Given the description of an element on the screen output the (x, y) to click on. 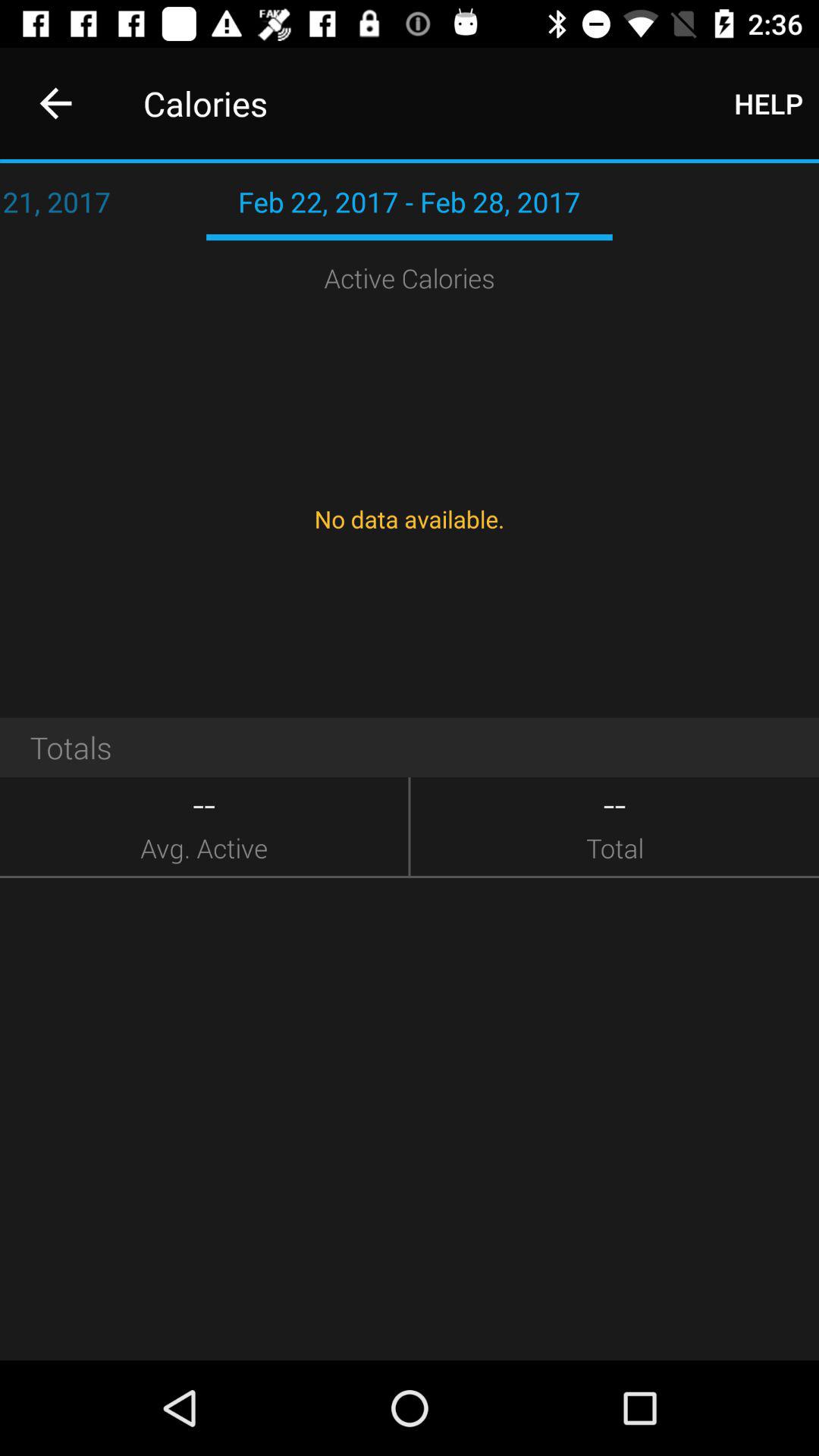
launch help at the top right corner (768, 103)
